Given the description of an element on the screen output the (x, y) to click on. 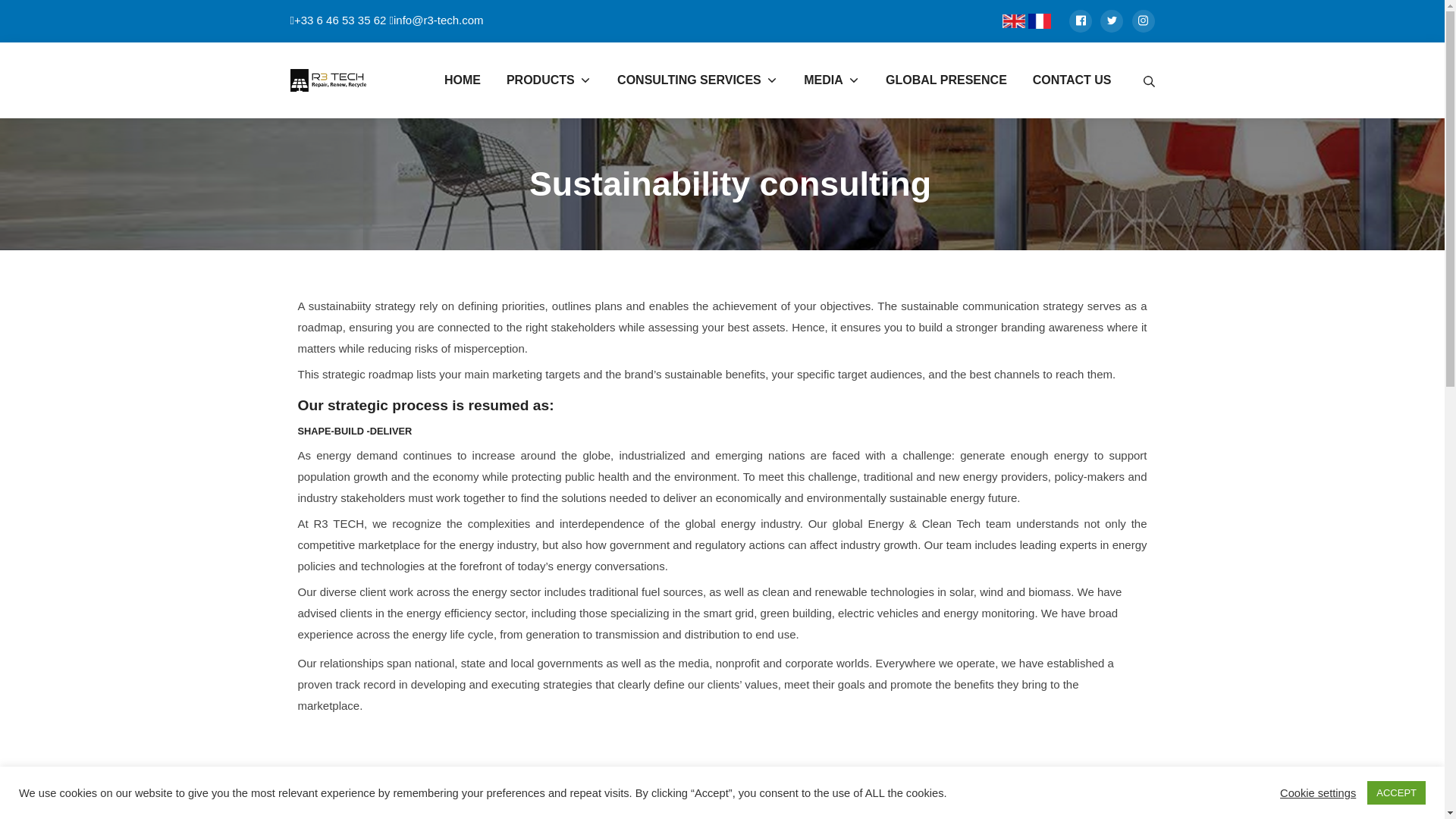
Instagram icon (1142, 20)
Facebook icon (1080, 20)
Twitter icon (1111, 20)
PRODUCTS (552, 79)
